Given the description of an element on the screen output the (x, y) to click on. 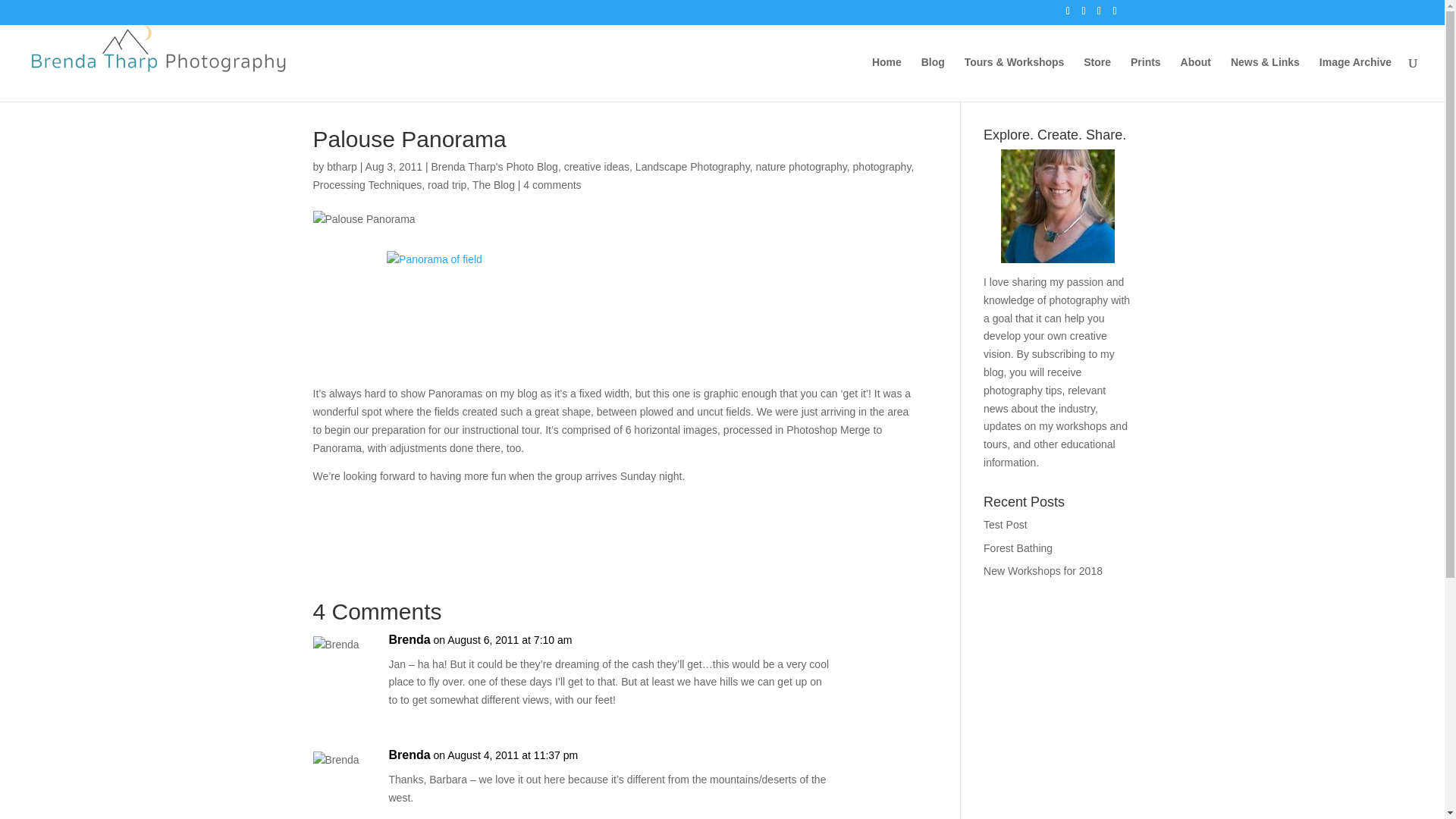
road trip (446, 184)
The Blog (493, 184)
Brenda Tharp's Photo Blog (493, 166)
nature photography (800, 166)
creative ideas (596, 166)
Image Archive (1355, 78)
New Workshops for 2018 (1043, 571)
btharp (341, 166)
Processing Techniques (367, 184)
4 comments (551, 184)
